Given the description of an element on the screen output the (x, y) to click on. 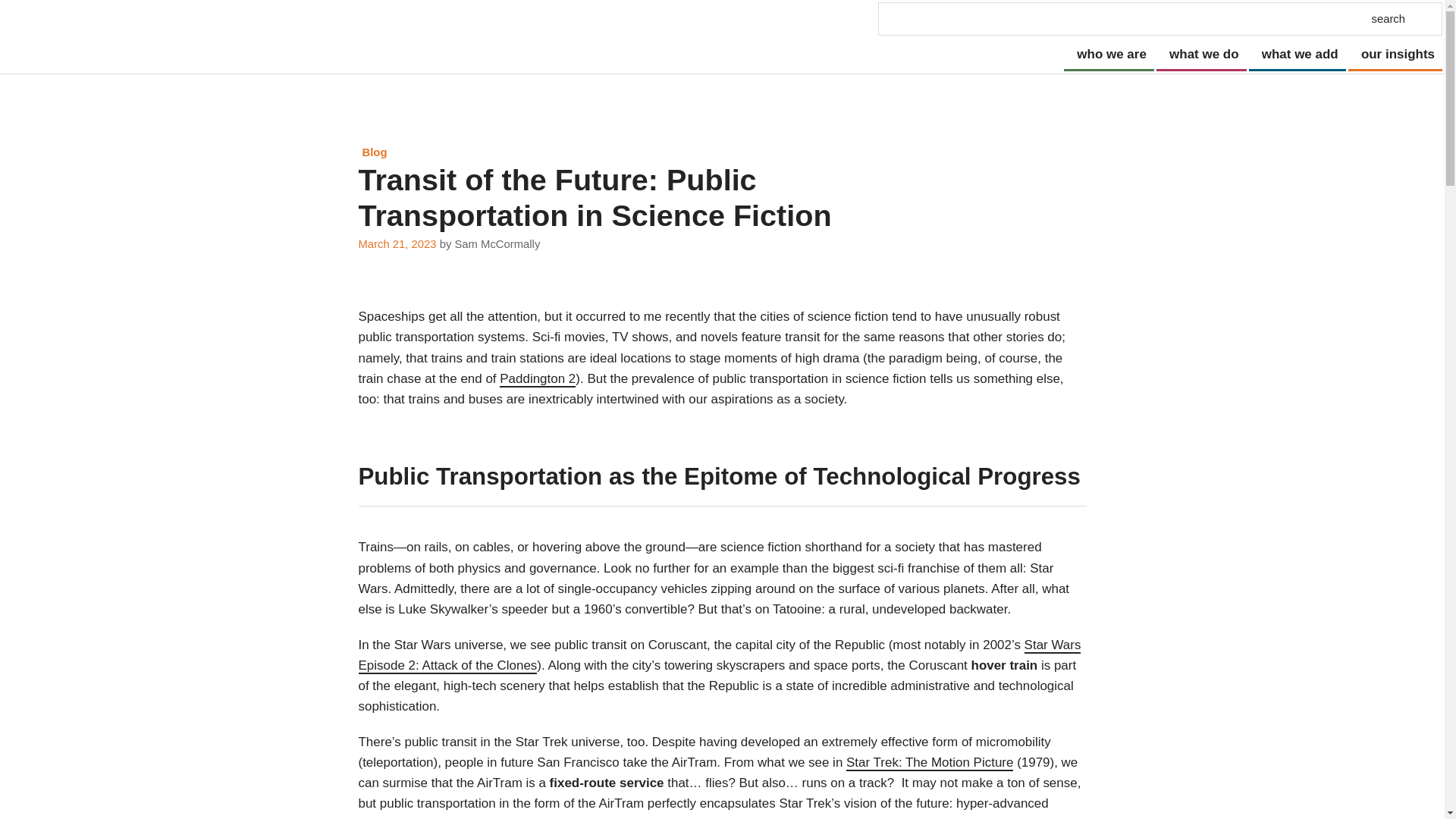
what we add (1297, 54)
who we are (1109, 54)
what we do (1201, 54)
Foursquare ITP (50, 36)
our insights (1395, 54)
